Given the description of an element on the screen output the (x, y) to click on. 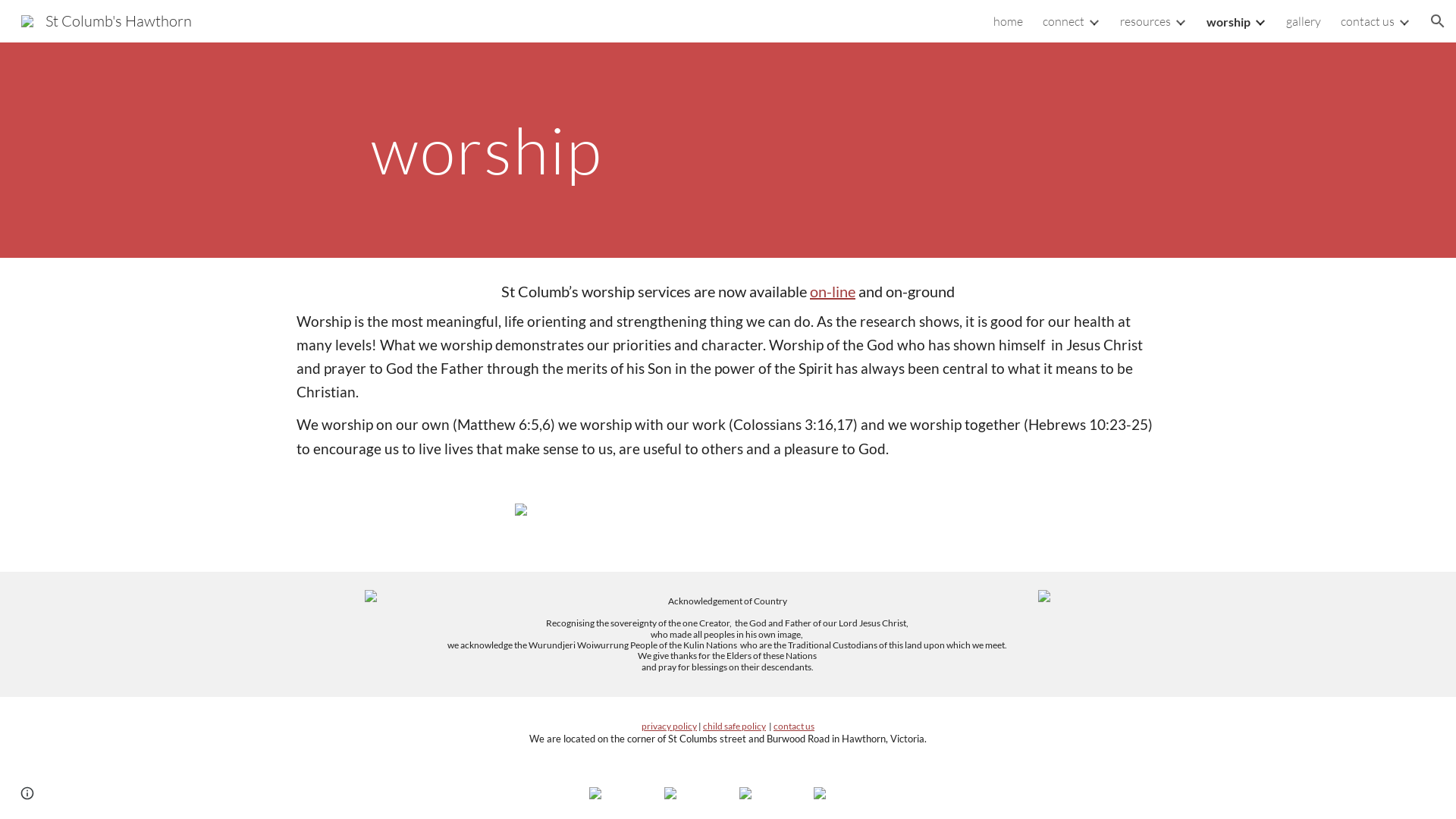
on-line Element type: text (832, 291)
privacy policy Element type: text (668, 725)
Expand/Collapse Element type: hover (1093, 20)
home Element type: text (1007, 20)
St Columb's Hawthorn Element type: text (106, 18)
contact us Element type: text (793, 725)
gallery Element type: text (1303, 20)
resources Element type: text (1145, 20)
Expand/Collapse Element type: hover (1179, 20)
Expand/Collapse Element type: hover (1403, 20)
connect Element type: text (1063, 20)
contact us Element type: text (1367, 20)
child safe policy Element type: text (733, 725)
worship Element type: text (1228, 20)
Expand/Collapse Element type: hover (1259, 20)
